Given the description of an element on the screen output the (x, y) to click on. 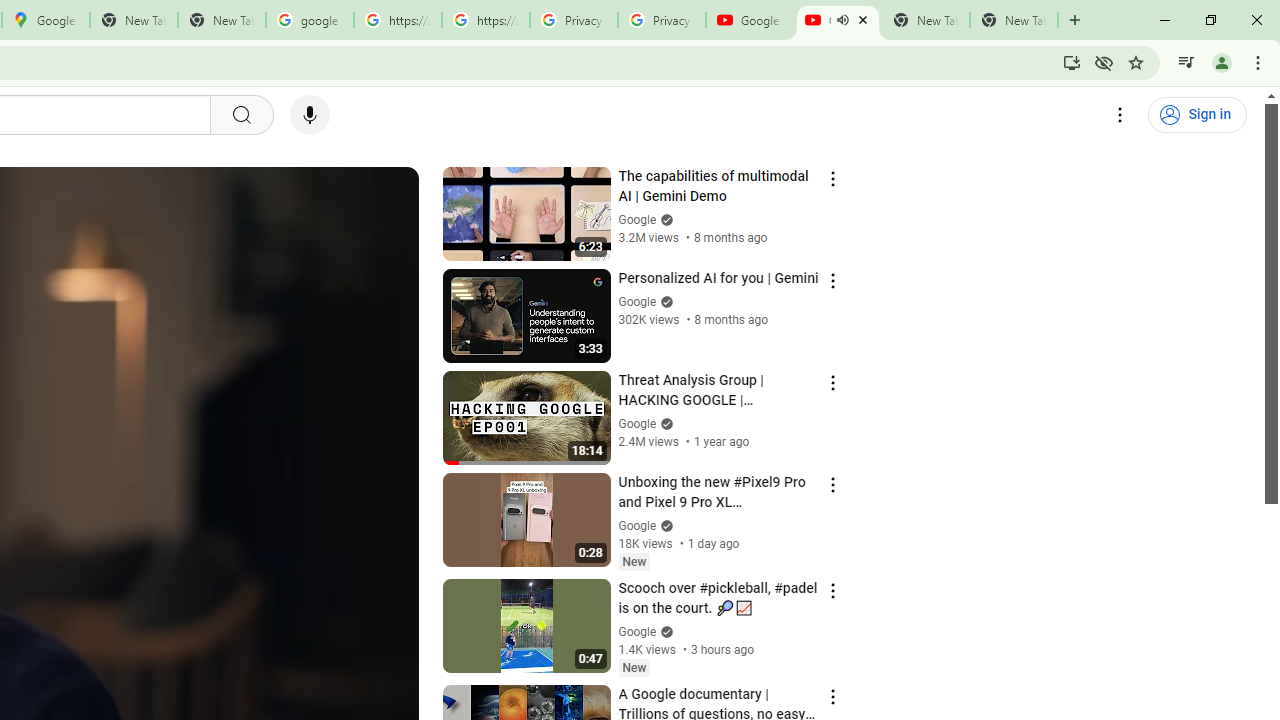
Mute tab (842, 20)
